Given the description of an element on the screen output the (x, y) to click on. 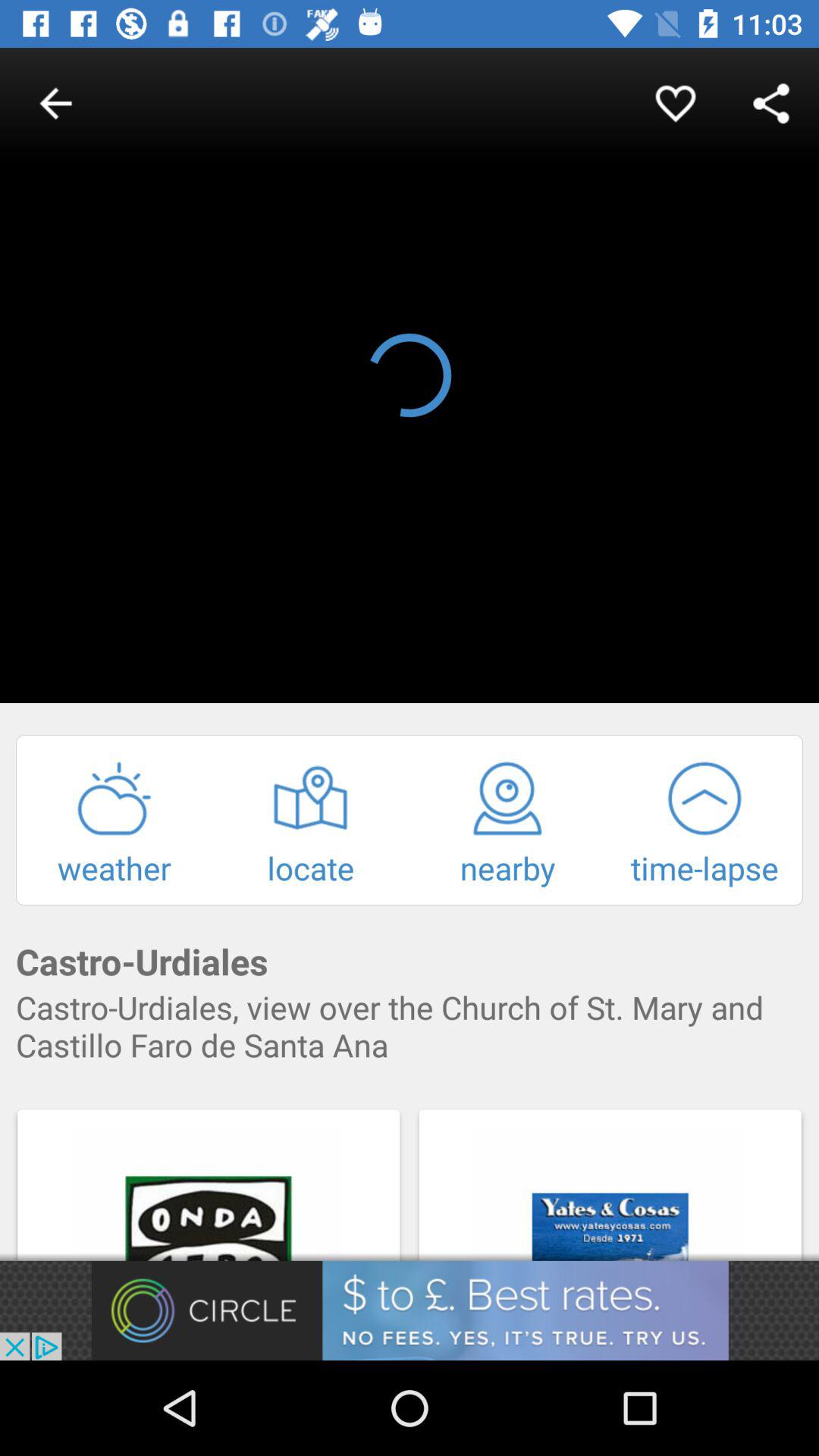
click on nearby option (508, 823)
